Given the description of an element on the screen output the (x, y) to click on. 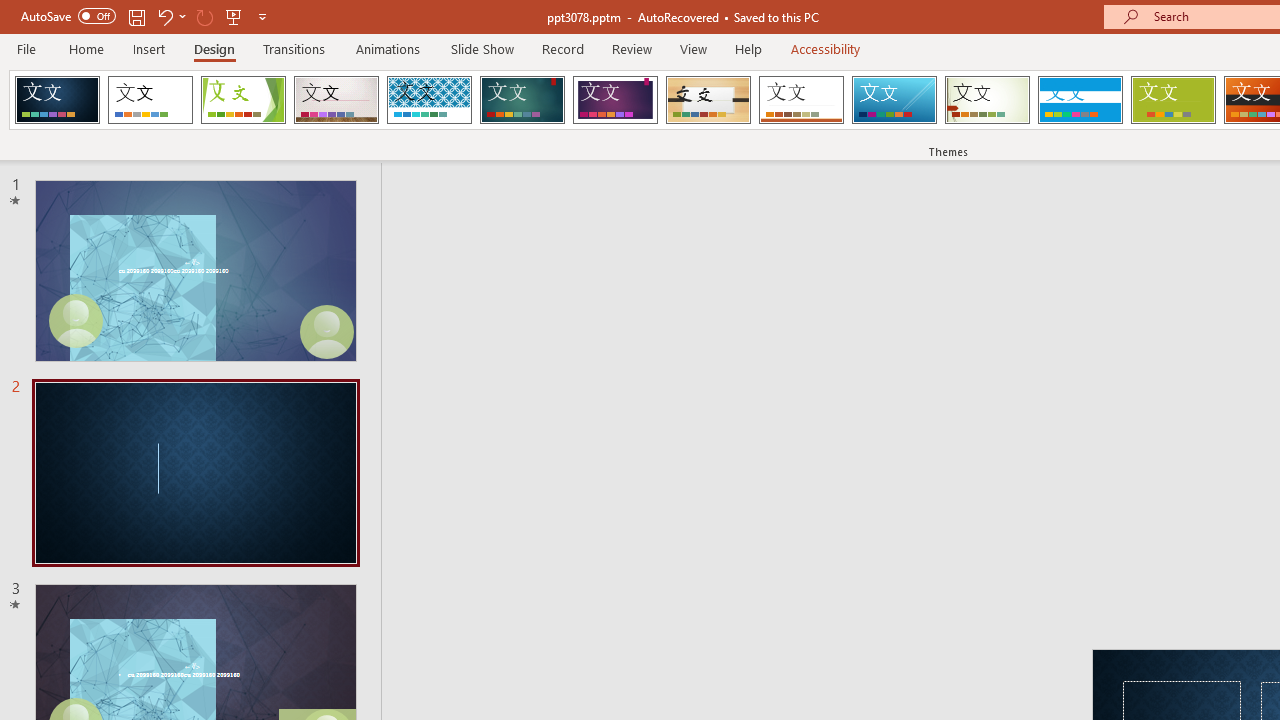
Organic (708, 100)
